Given the description of an element on the screen output the (x, y) to click on. 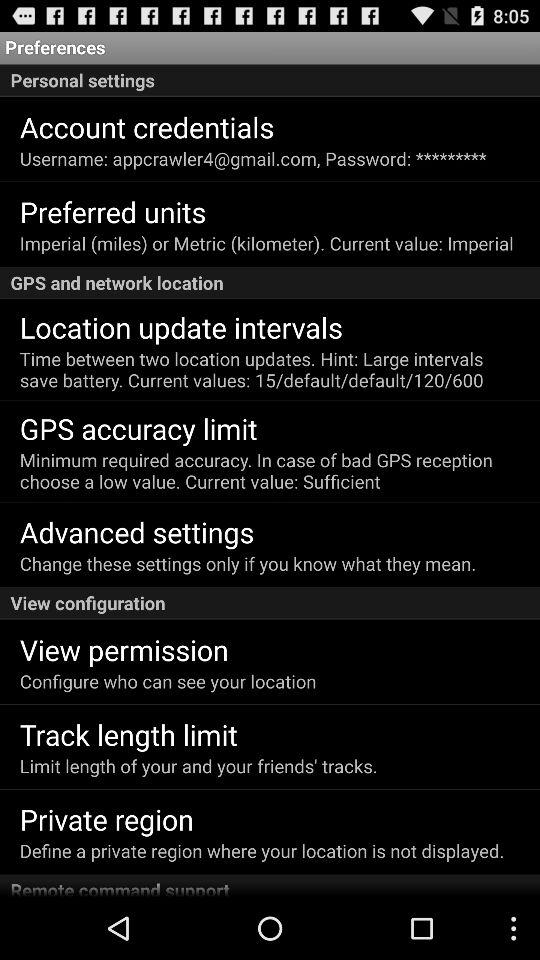
press item above remote command support item (261, 850)
